Given the description of an element on the screen output the (x, y) to click on. 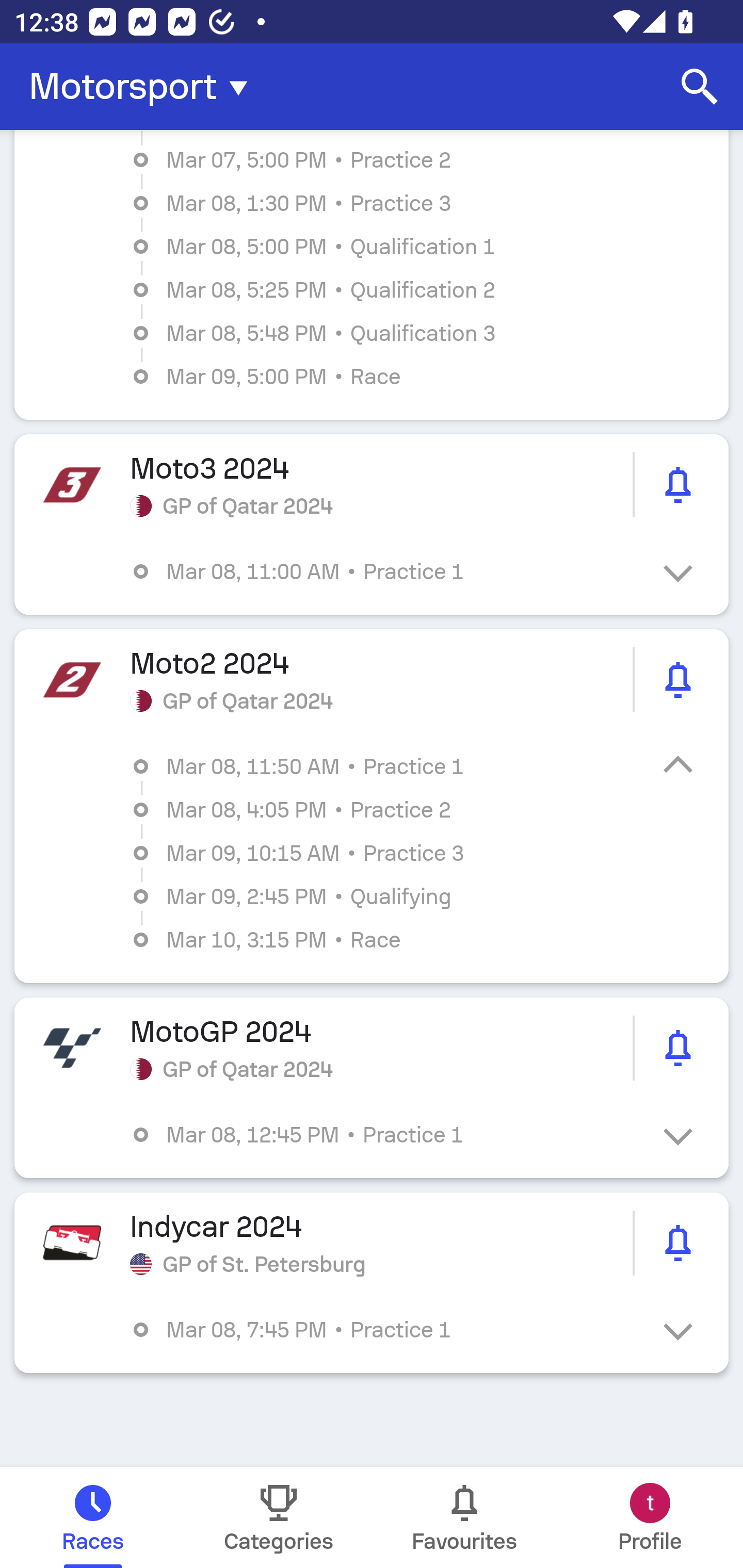
Motorsport (144, 86)
Search (699, 86)
Mar 08, 11:00 AM • Practice 1 (385, 571)
Mar 08, 12:45 PM • Practice 1 (385, 1134)
Mar 08, 7:45 PM • Practice 1 (385, 1329)
Categories (278, 1517)
Favourites (464, 1517)
Profile (650, 1517)
